Given the description of an element on the screen output the (x, y) to click on. 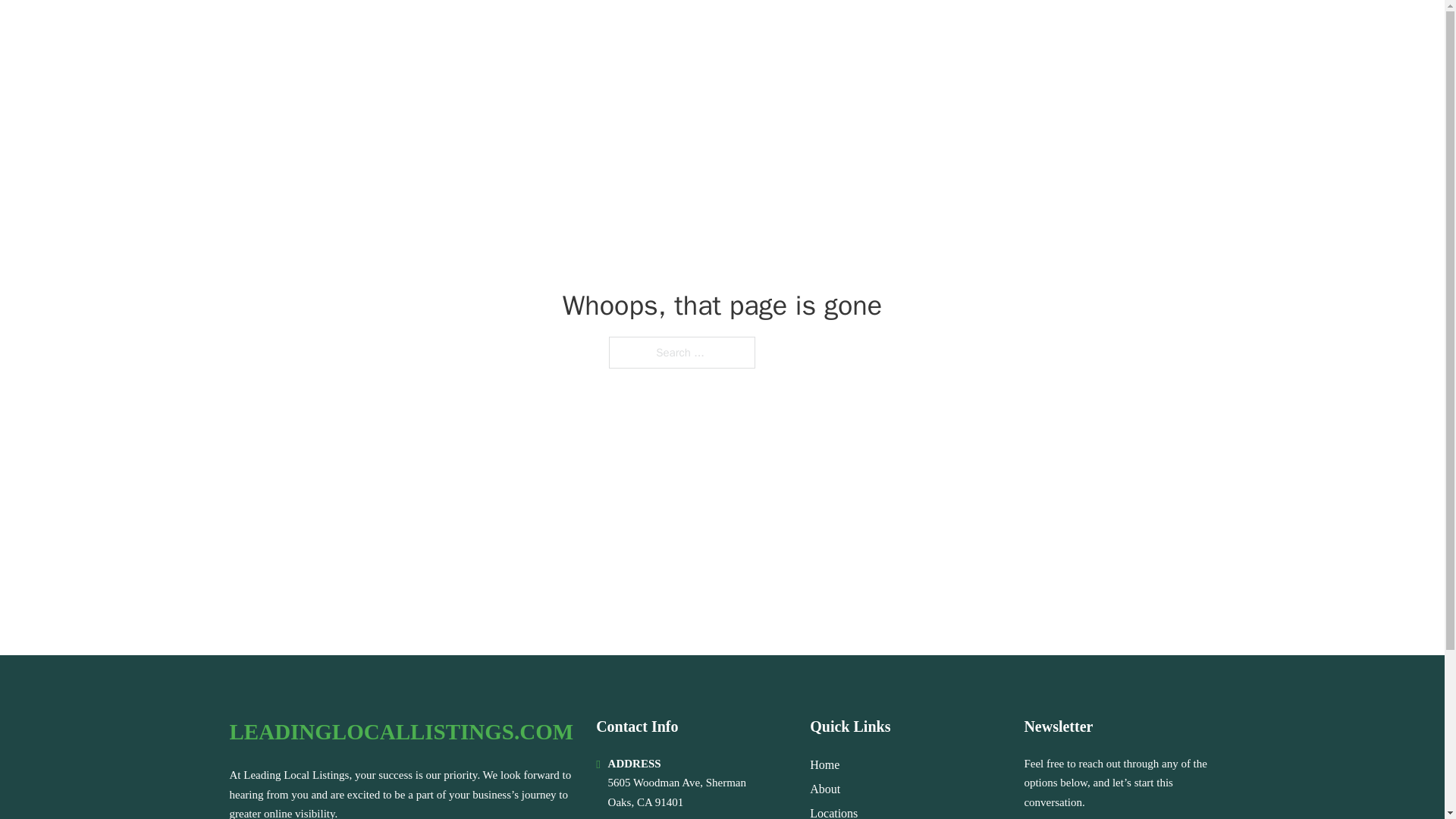
Home (824, 764)
Locations (833, 811)
About (824, 788)
LEADINGLOCALLISTINGS.COM (418, 31)
LOCATIONS (1075, 31)
LEADINGLOCALLISTINGS.COM (400, 732)
HOME (1002, 31)
